Given the description of an element on the screen output the (x, y) to click on. 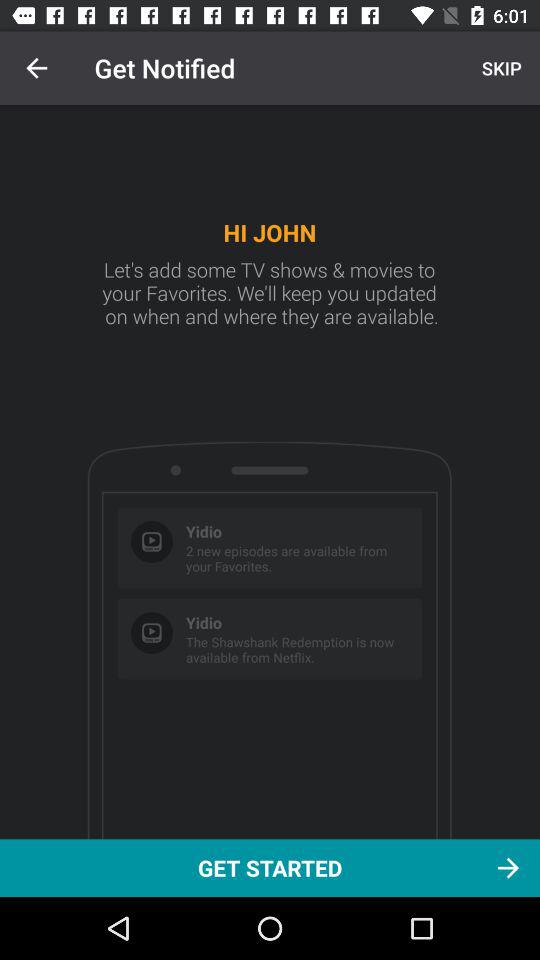
tap the item next to the get notified icon (36, 68)
